Given the description of an element on the screen output the (x, y) to click on. 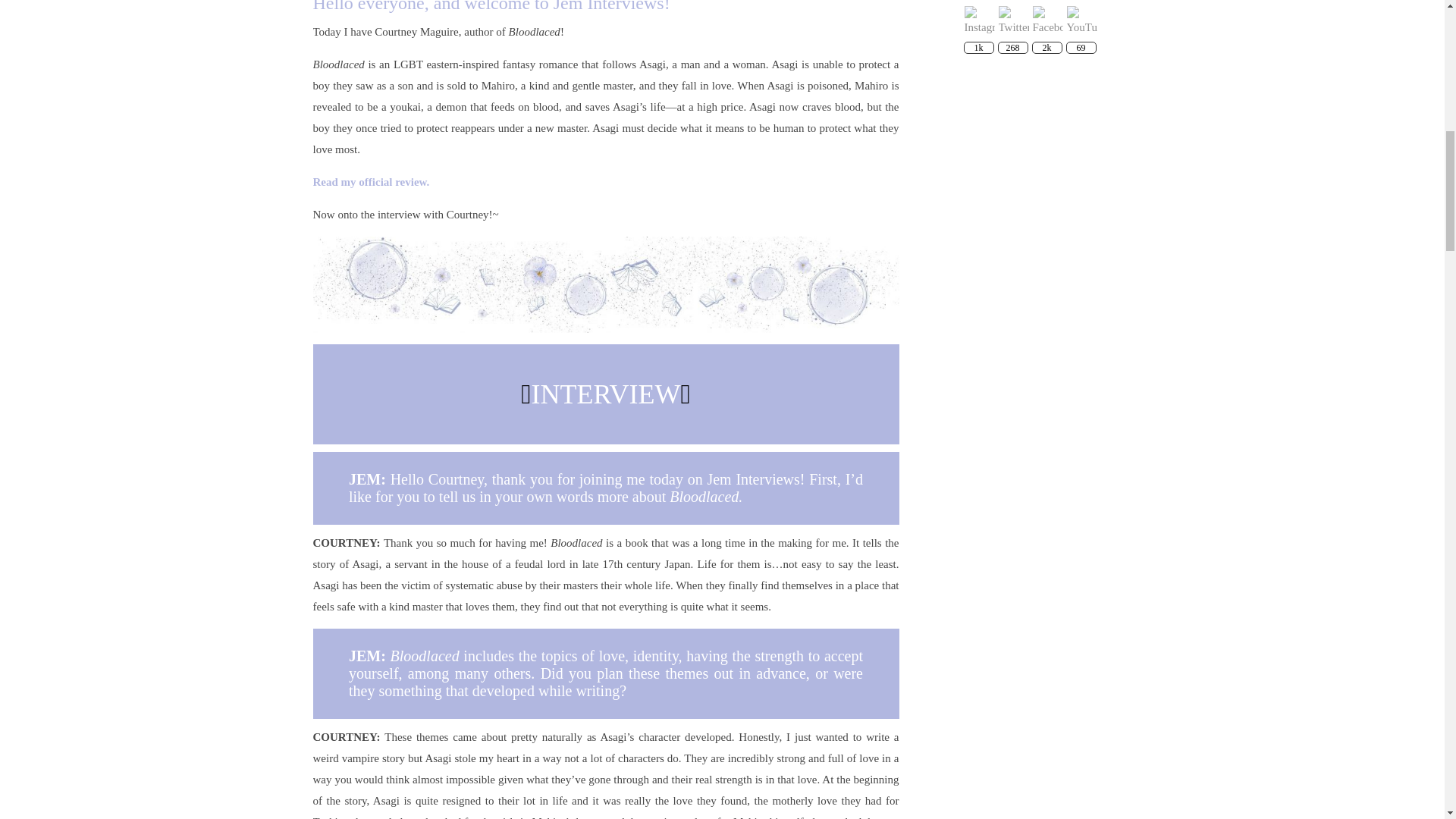
Facebook (1047, 20)
Twitter (1012, 20)
Instagram (978, 20)
Read my official review. (371, 182)
